Given the description of an element on the screen output the (x, y) to click on. 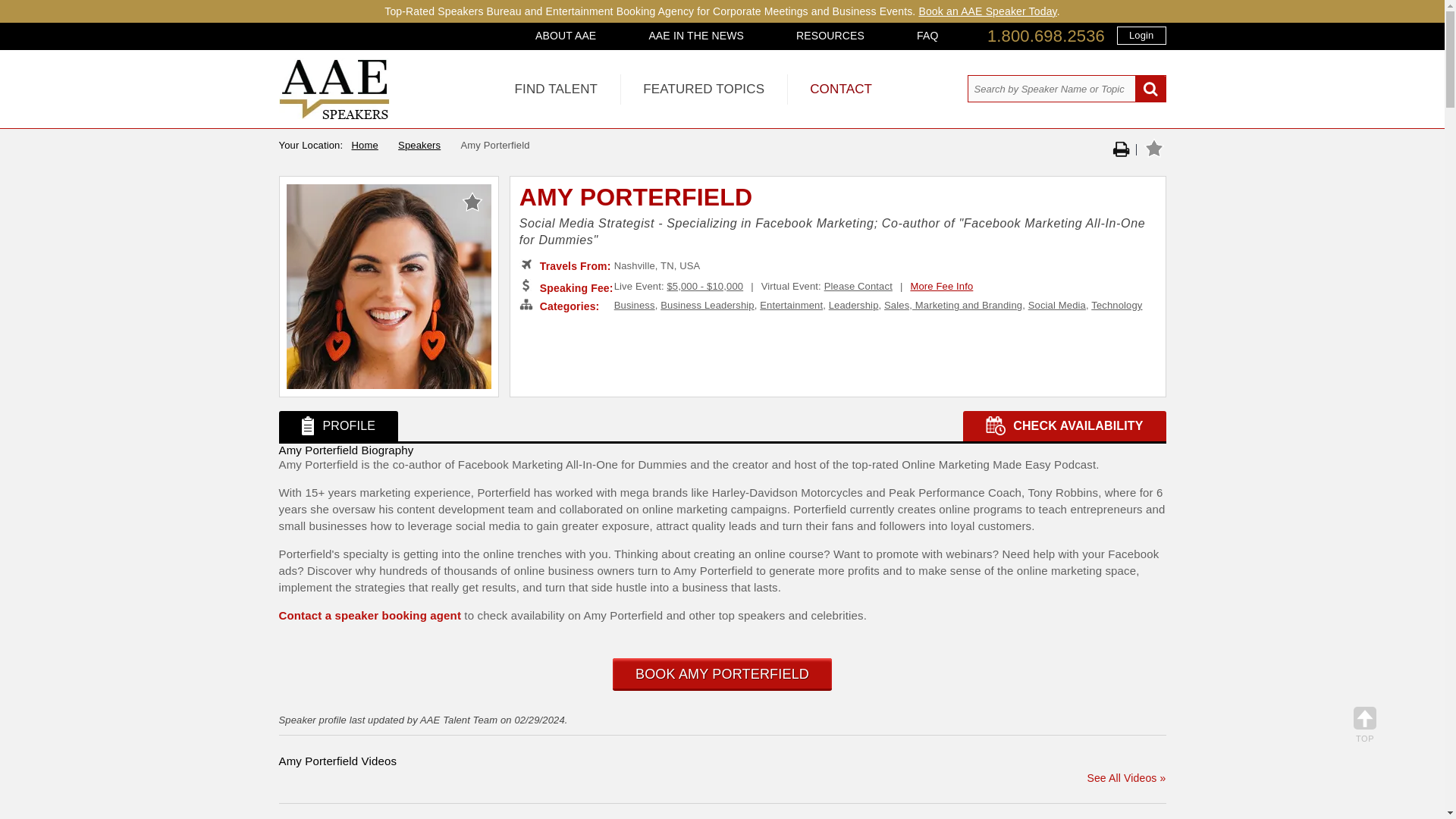
Book an AAE Speaker Today (987, 10)
AAE IN THE NEWS (695, 34)
FAQ (927, 34)
All American Speakers Bureau and Celebrity Booking Agency (334, 115)
Login (1141, 35)
Search (1150, 89)
1.800.698.2536 (1046, 35)
RESOURCES (829, 34)
ABOUT AAE (565, 34)
